Given the description of an element on the screen output the (x, y) to click on. 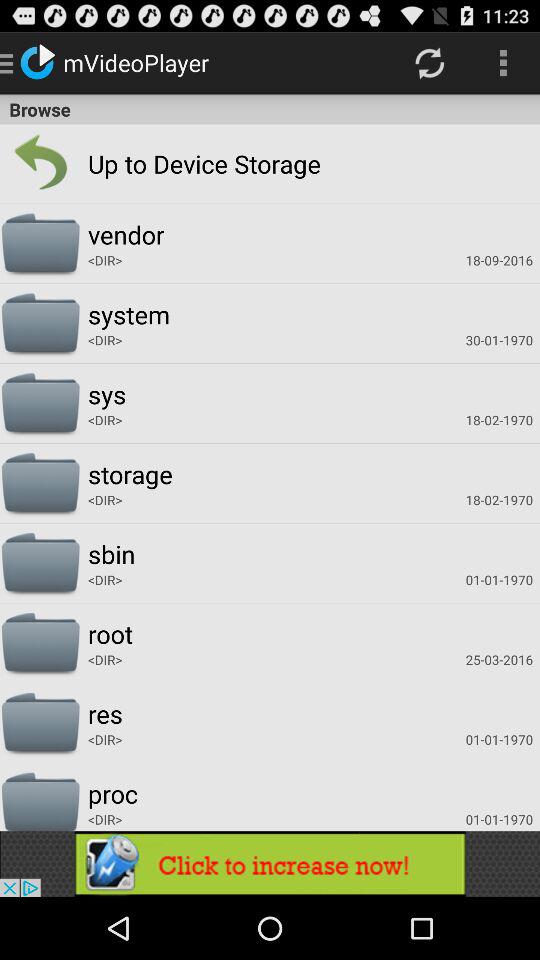
open advertisement (270, 864)
